Given the description of an element on the screen output the (x, y) to click on. 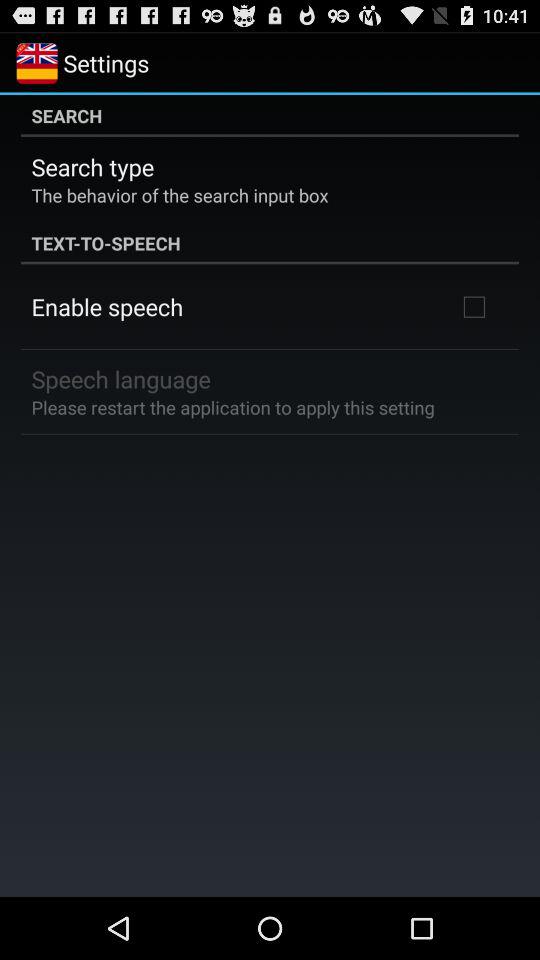
launch the speech language on the left (120, 378)
